Given the description of an element on the screen output the (x, y) to click on. 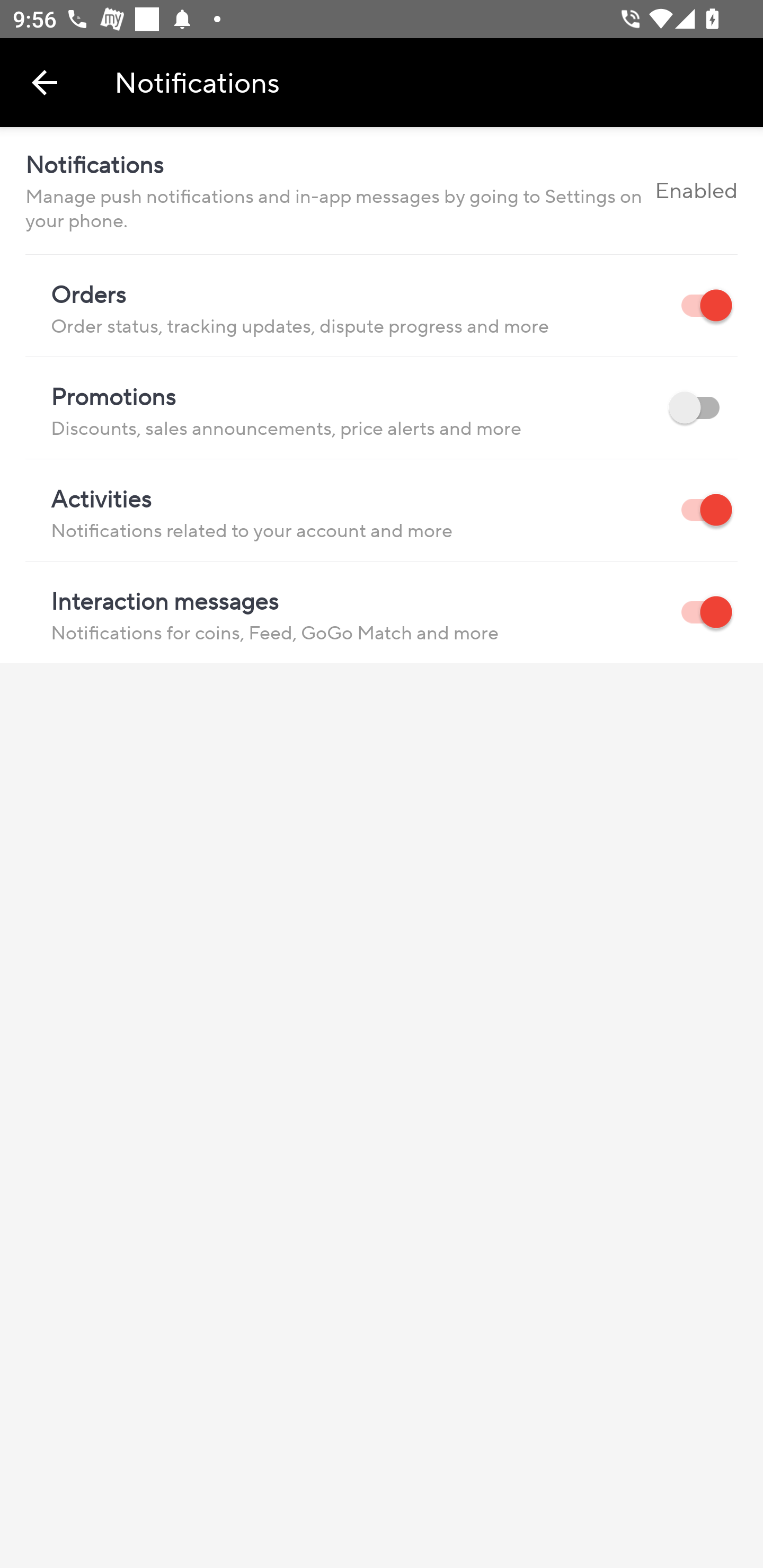
Navigate up (44, 82)
